Given the description of an element on the screen output the (x, y) to click on. 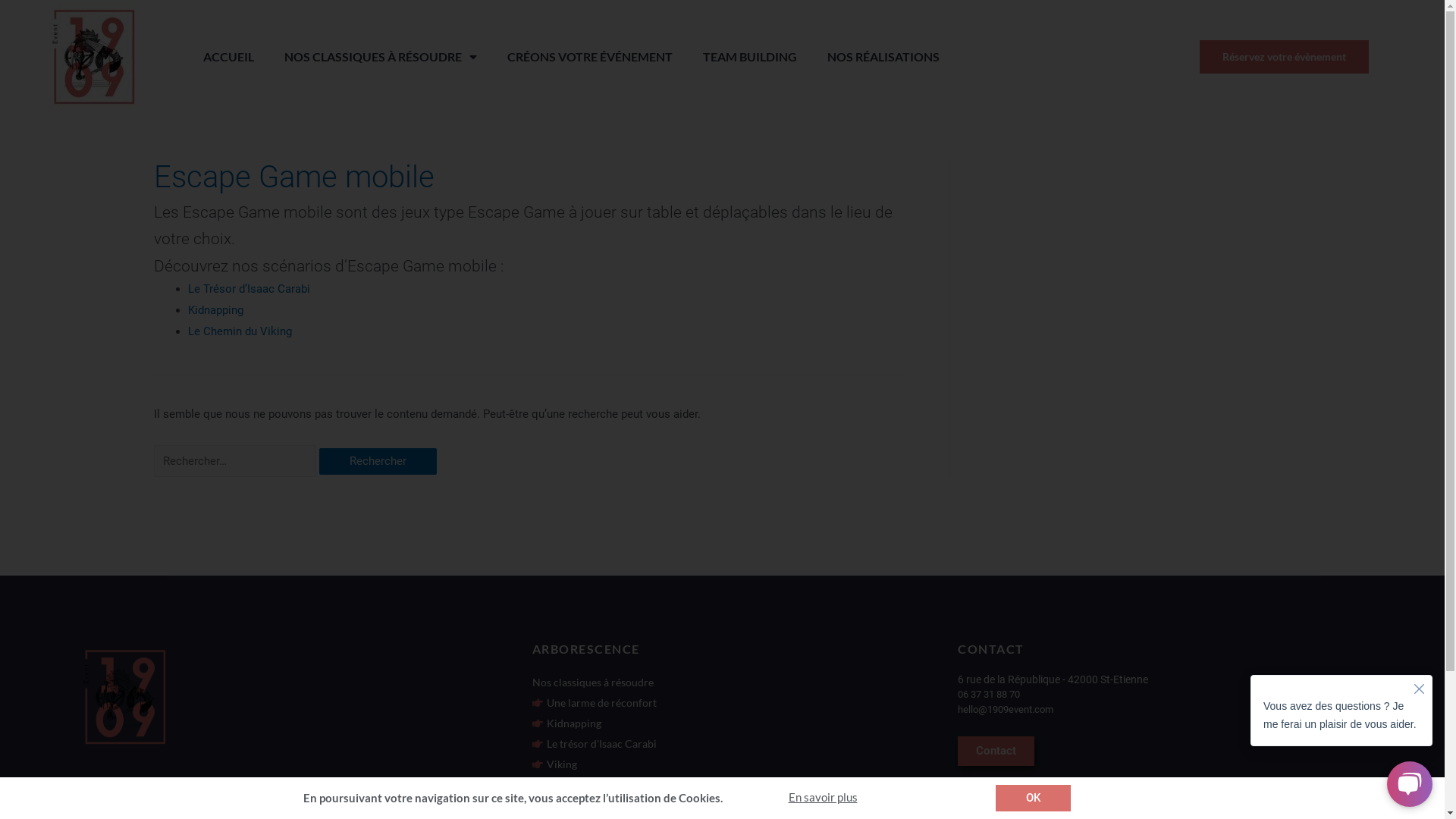
Contact Element type: text (995, 750)
OK Element type: text (1032, 797)
ACCUEIL Element type: text (228, 56)
Kidnapping Element type: text (566, 722)
Kidnapping Element type: text (215, 309)
Les apprentis sorciers Element type: text (590, 804)
TEAM BUILDING Element type: text (749, 56)
Viking Element type: text (554, 763)
En savoir plus Element type: text (822, 796)
Rechercher Element type: text (377, 461)
Le Chemin du Viking Element type: text (239, 331)
